Given the description of an element on the screen output the (x, y) to click on. 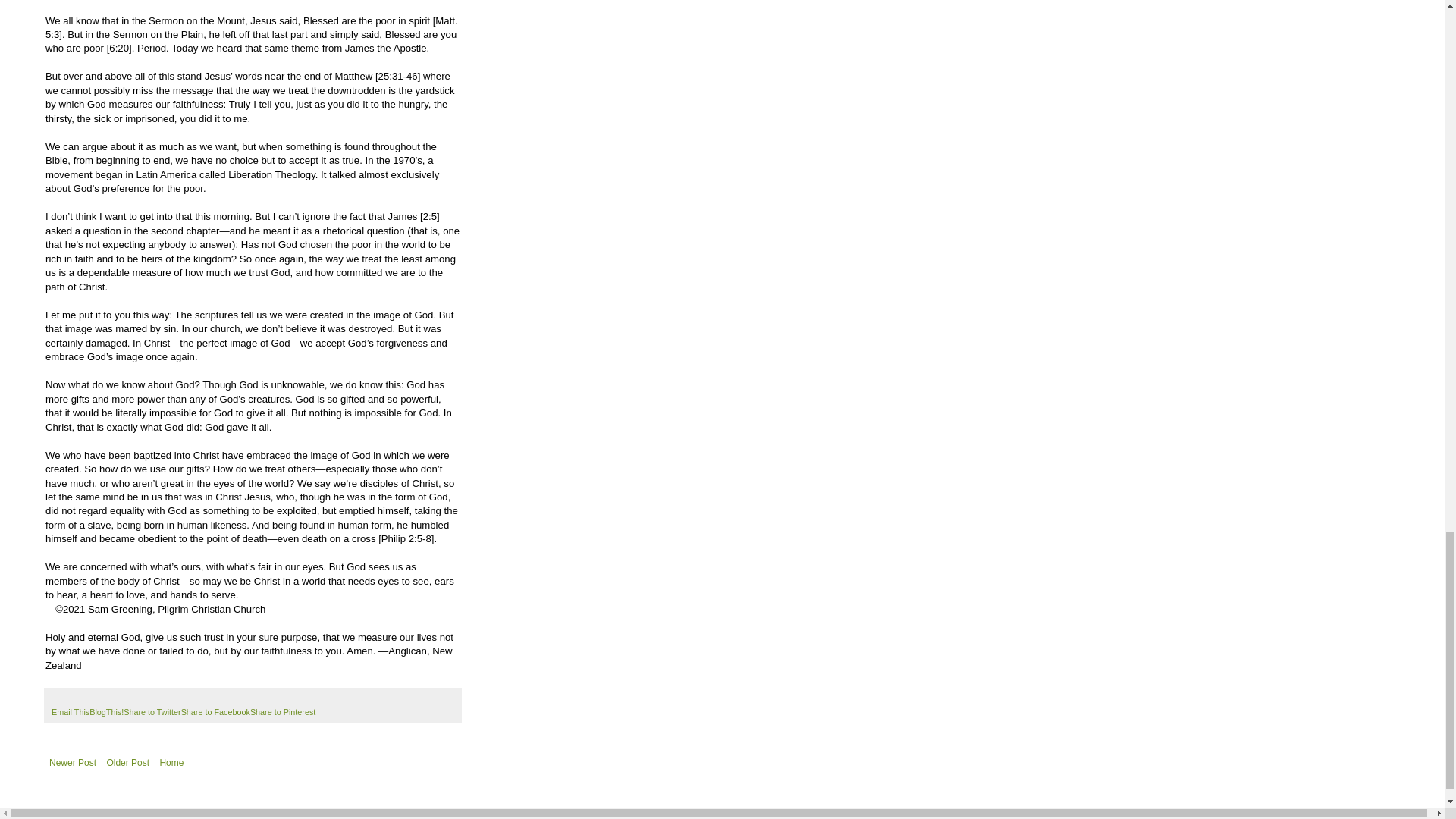
BlogThis! (105, 711)
Share to Facebook (215, 711)
Share to Pinterest (282, 711)
Share to Facebook (215, 711)
Email Post (57, 697)
Email This (69, 711)
Newer Post (72, 762)
Older Post (126, 762)
BlogThis! (105, 711)
Older Post (126, 762)
Share to Twitter (151, 711)
Share to Twitter (151, 711)
Home (171, 762)
Share to Pinterest (282, 711)
Newer Post (72, 762)
